Given the description of an element on the screen output the (x, y) to click on. 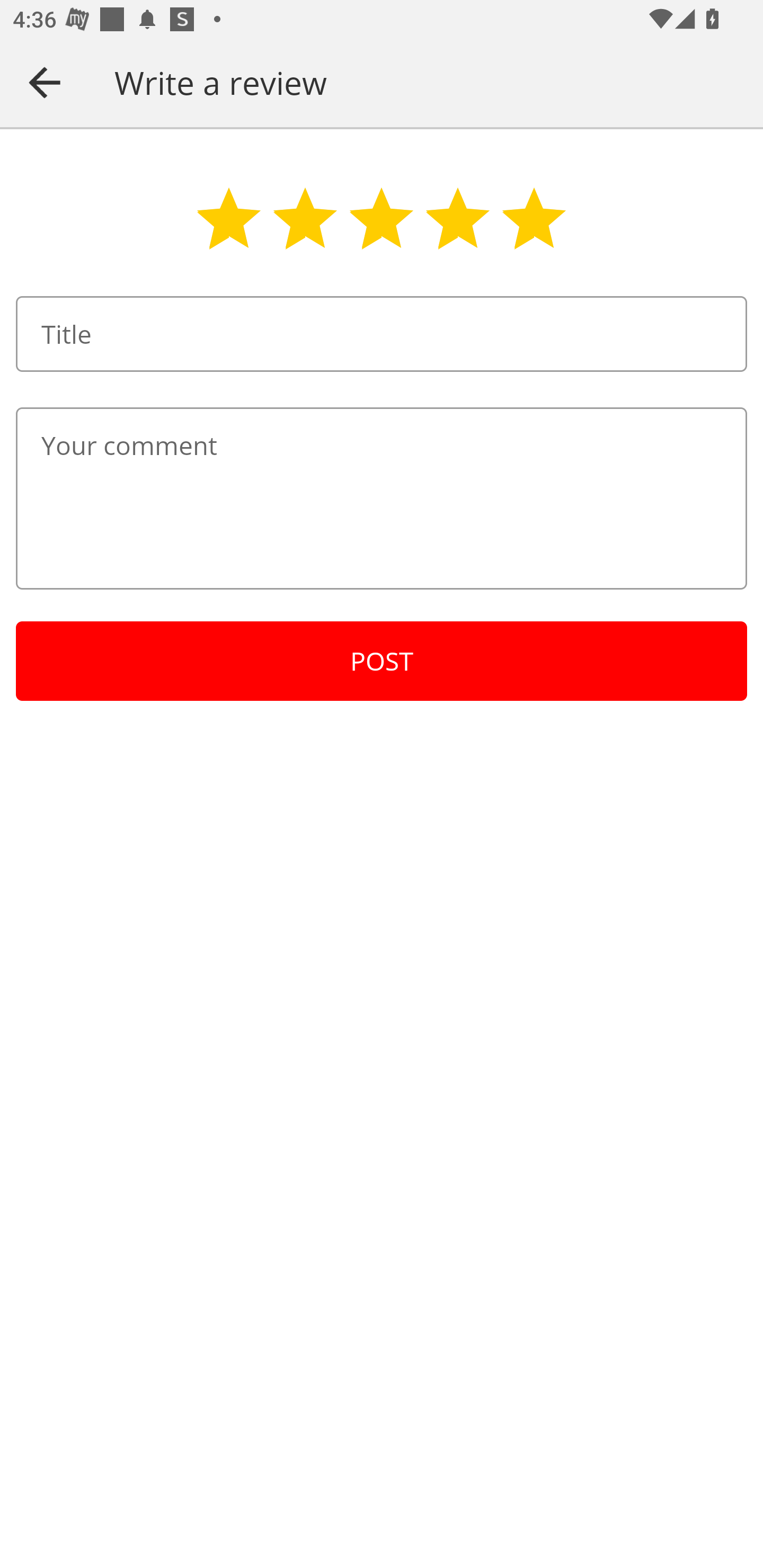
Navigate up (44, 82)
Title (381, 333)
Your comment (381, 498)
POST (381, 660)
